Given the description of an element on the screen output the (x, y) to click on. 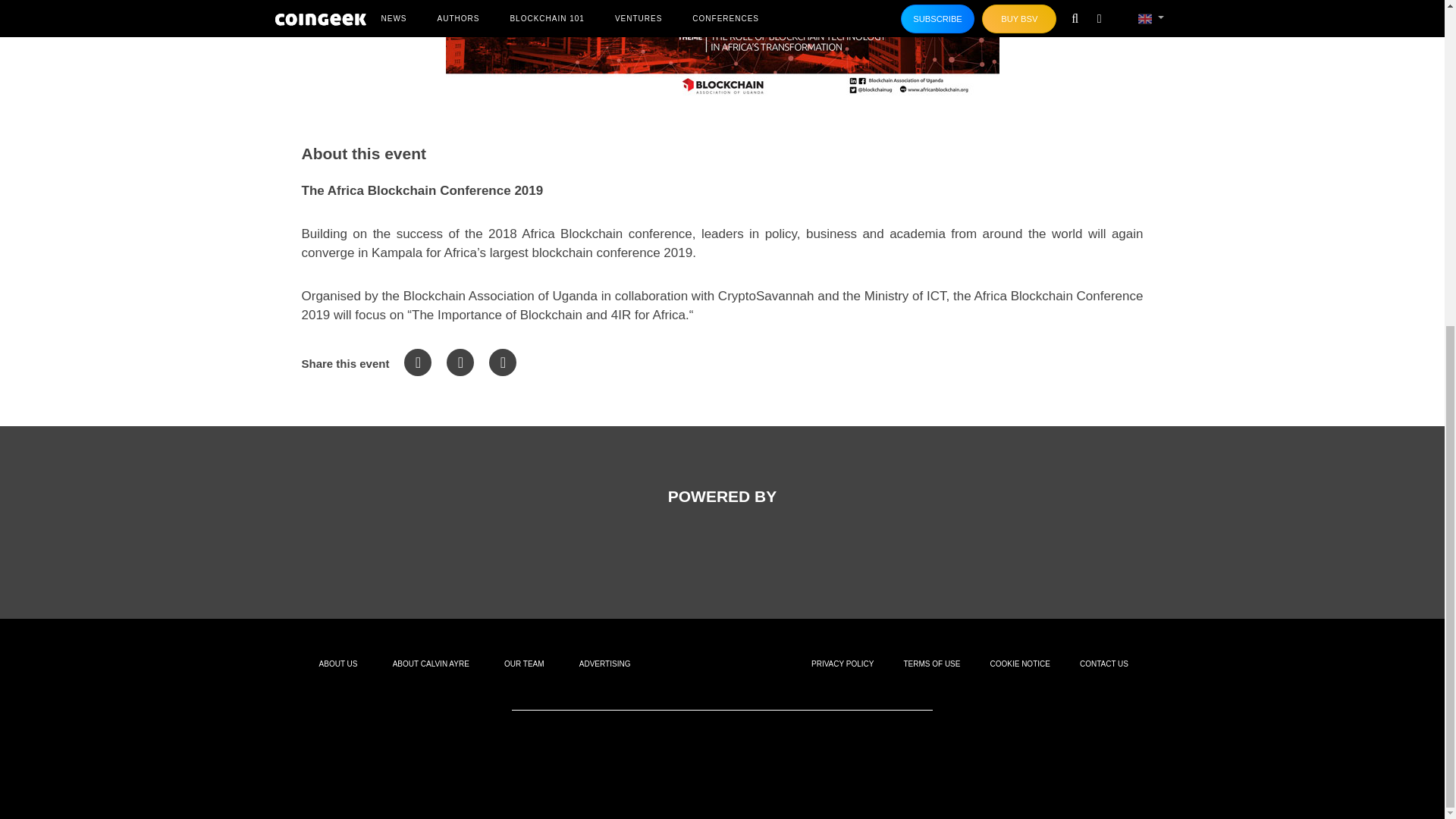
Share on Twitter (460, 361)
ABOUT US (338, 664)
Share on LinkedIn (502, 361)
Share on Facebook (417, 361)
